Given the description of an element on the screen output the (x, y) to click on. 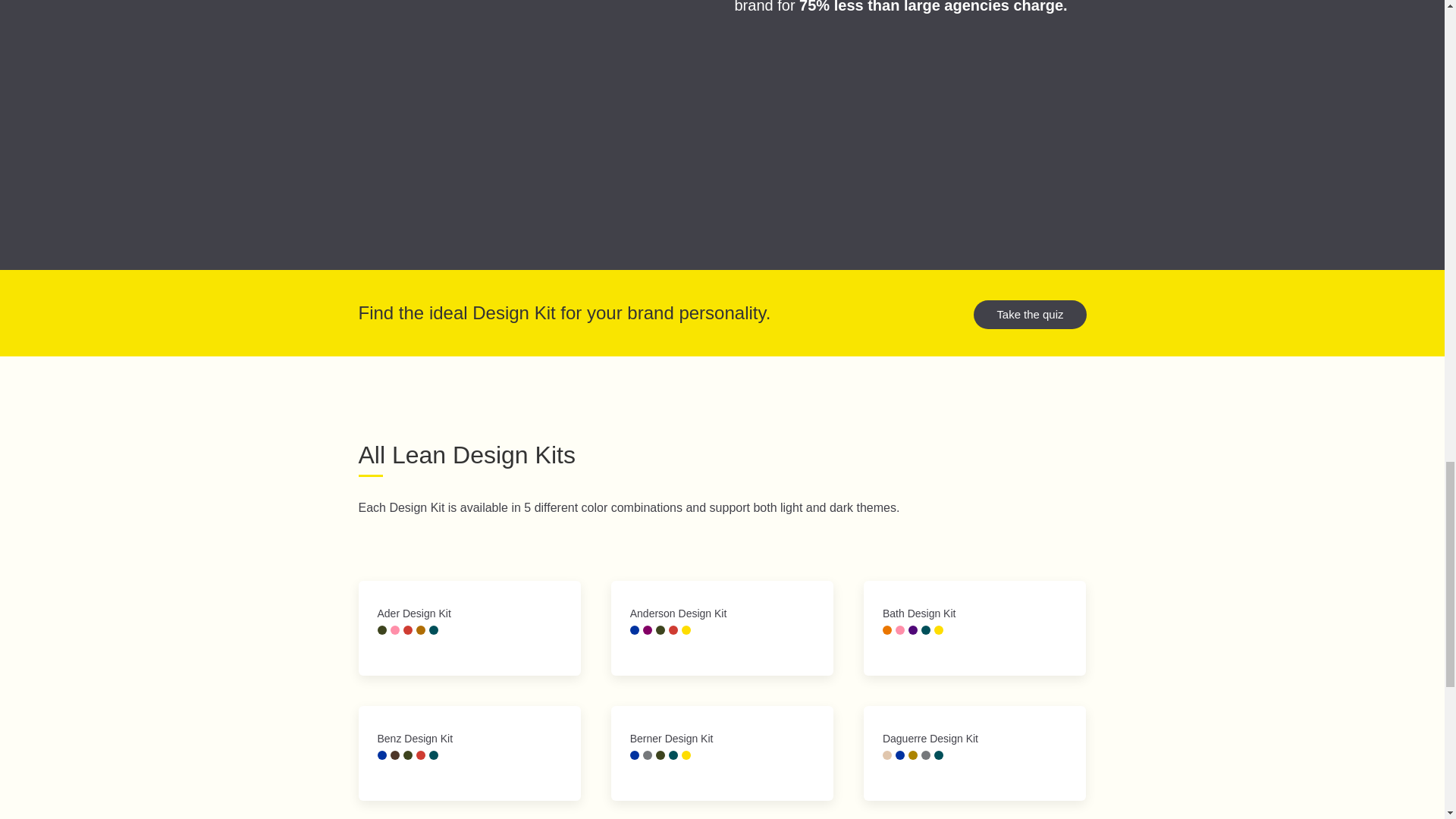
Anderson Design Kit (721, 627)
Berner Design Kit (721, 752)
Benz Design Kit (468, 752)
Ader Design Kit (468, 627)
Bath Design Kit (974, 627)
Take the quiz (1030, 314)
Daguerre Design Kit (974, 752)
